Given the description of an element on the screen output the (x, y) to click on. 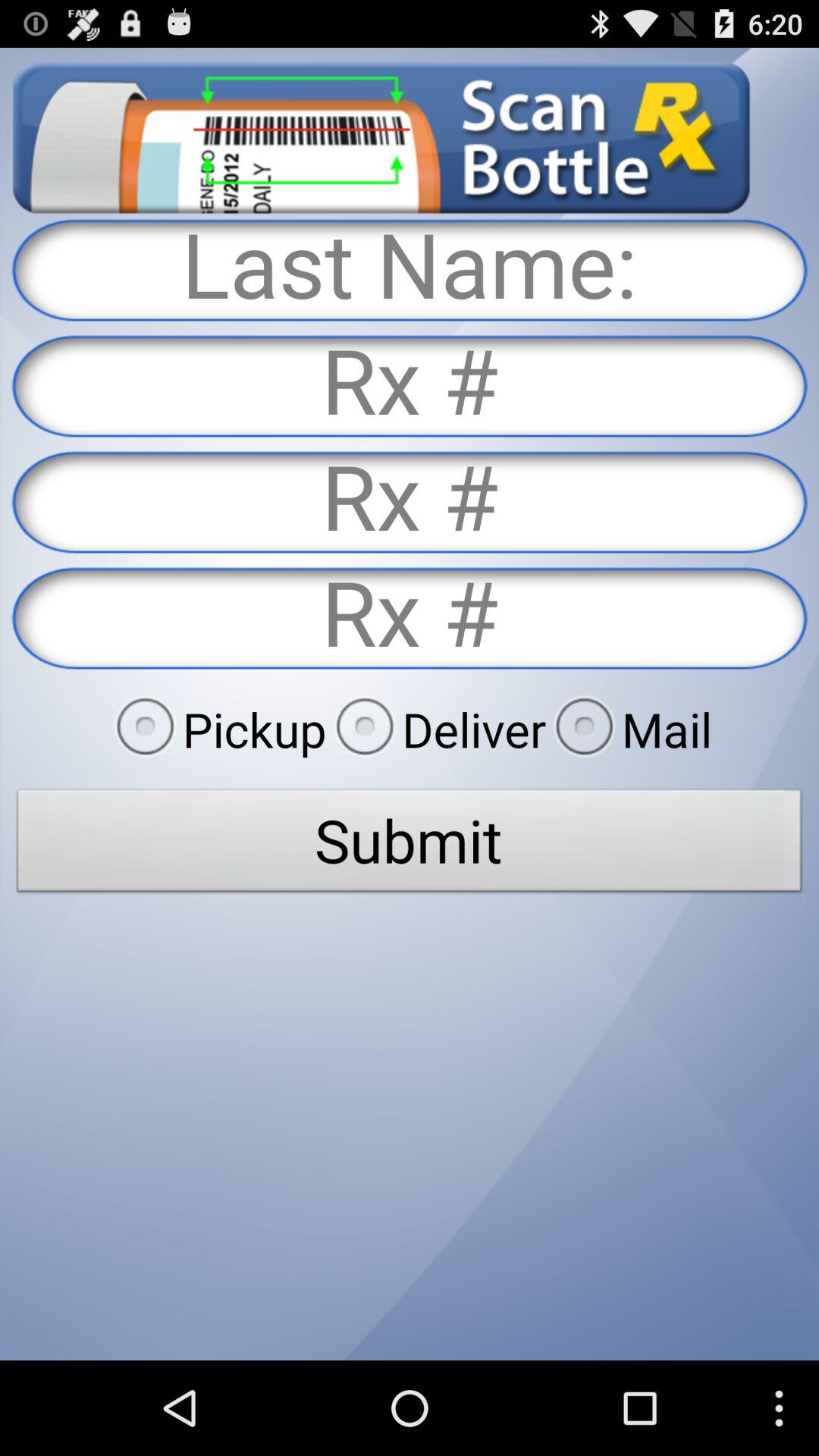
select radio button next to the pickup item (436, 728)
